Given the description of an element on the screen output the (x, y) to click on. 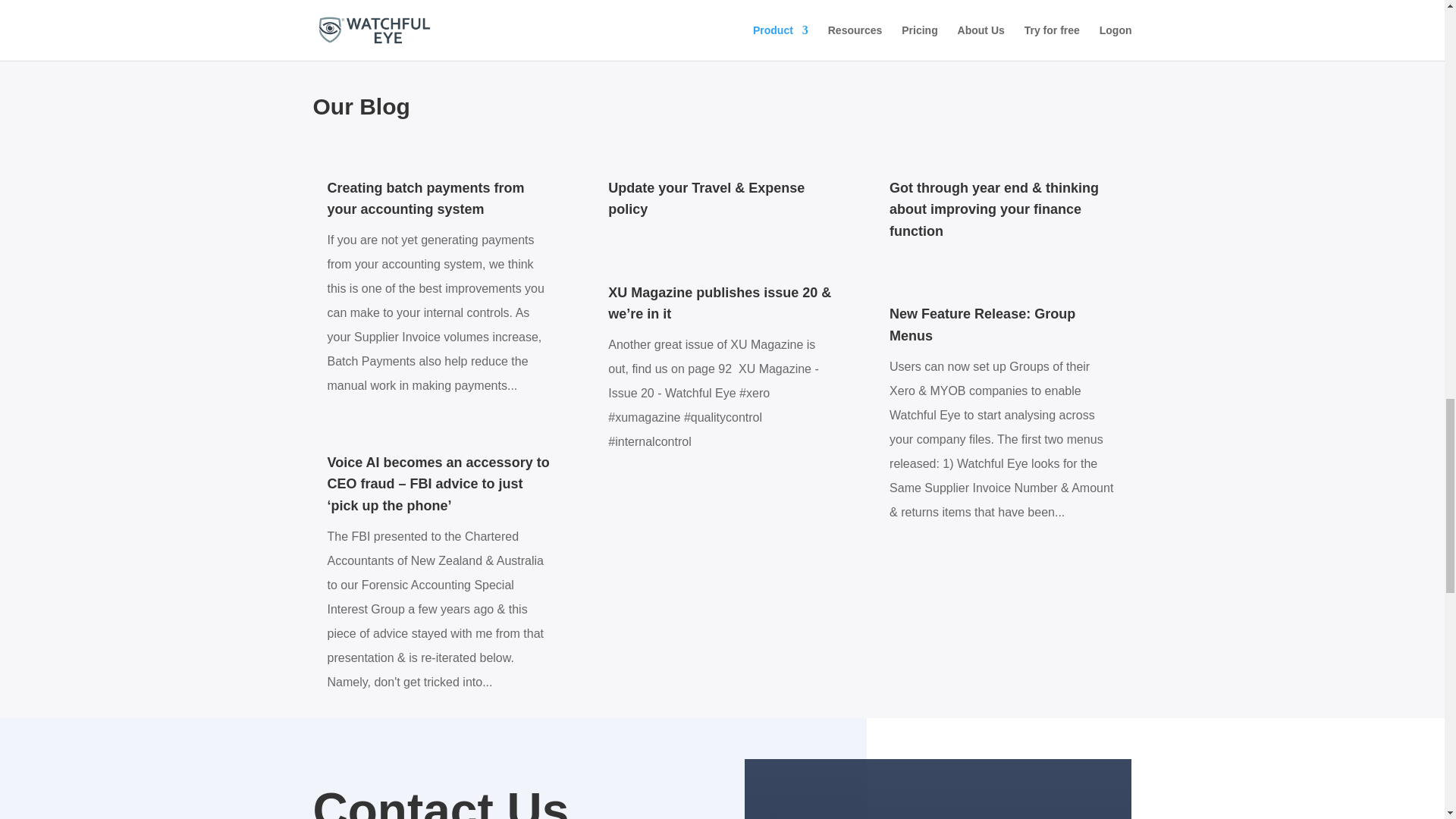
New Feature Release: Group Menus (982, 324)
Creating batch payments from your accounting system (425, 198)
